Given the description of an element on the screen output the (x, y) to click on. 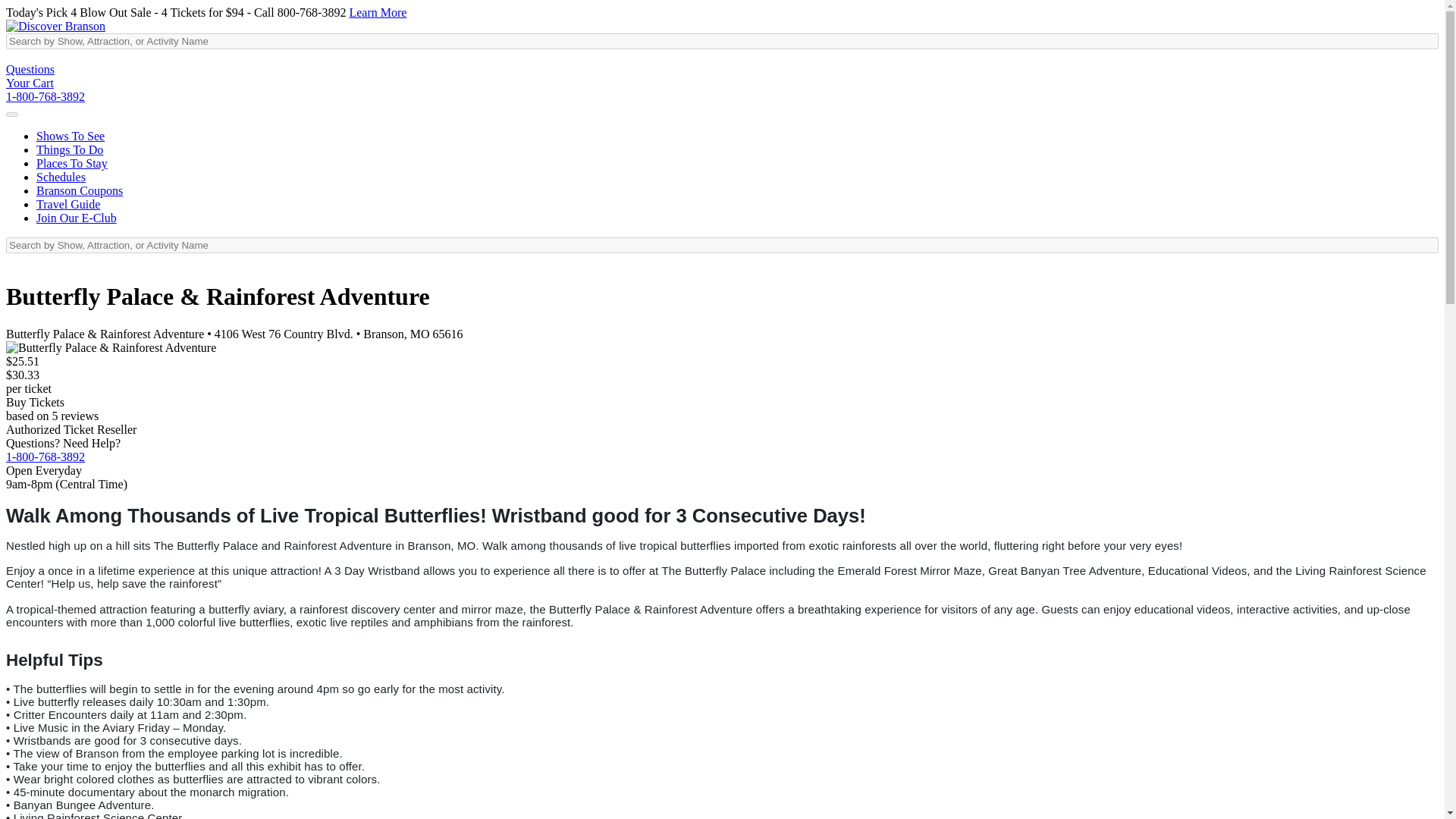
Join Our E-Club (76, 217)
Schedules (60, 176)
Branson Travel Guide (68, 204)
Learn More (377, 11)
Shows To See in Branson, Missouri (70, 135)
1-800-768-3892 (44, 96)
Branson Coupons (79, 190)
Join Our E-Club (76, 217)
Discover Branson (54, 25)
Places To Stay (71, 163)
